Given the description of an element on the screen output the (x, y) to click on. 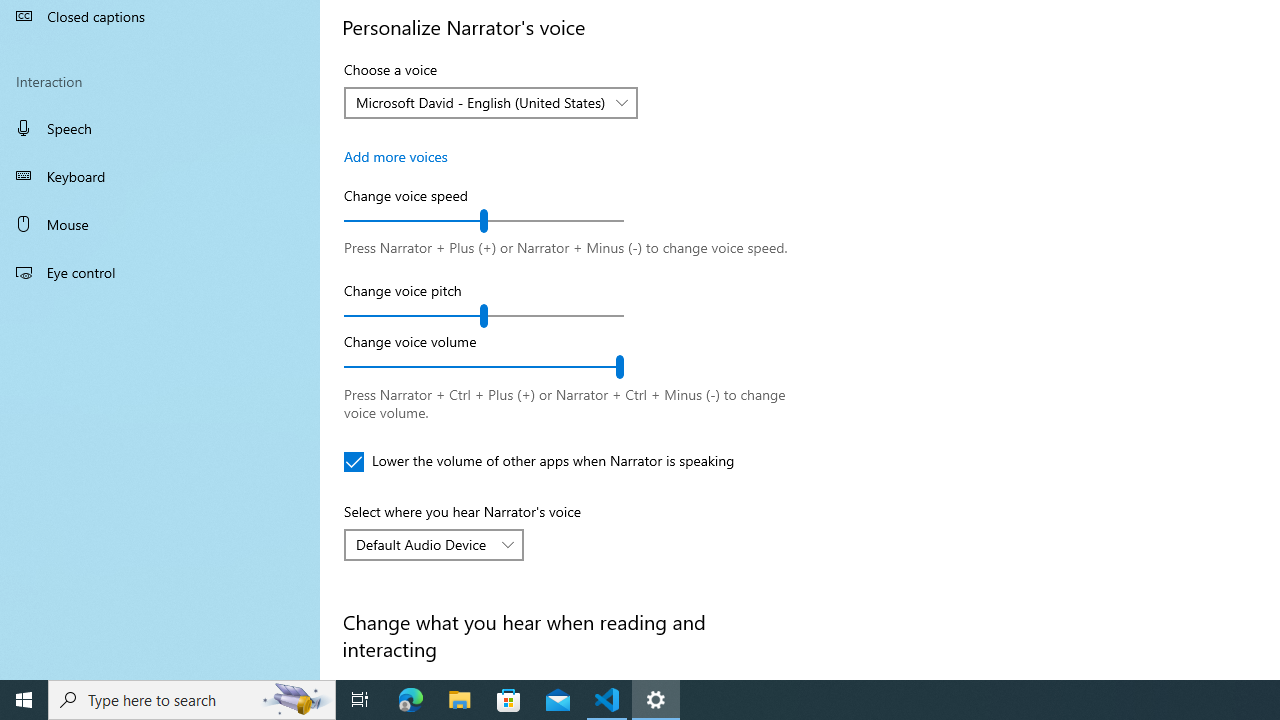
Default Audio Device (423, 543)
Mouse (160, 223)
Speech (160, 127)
Change voice volume (484, 367)
Lower the volume of other apps when Narrator is speaking (539, 461)
Change voice pitch (484, 315)
